Given the description of an element on the screen output the (x, y) to click on. 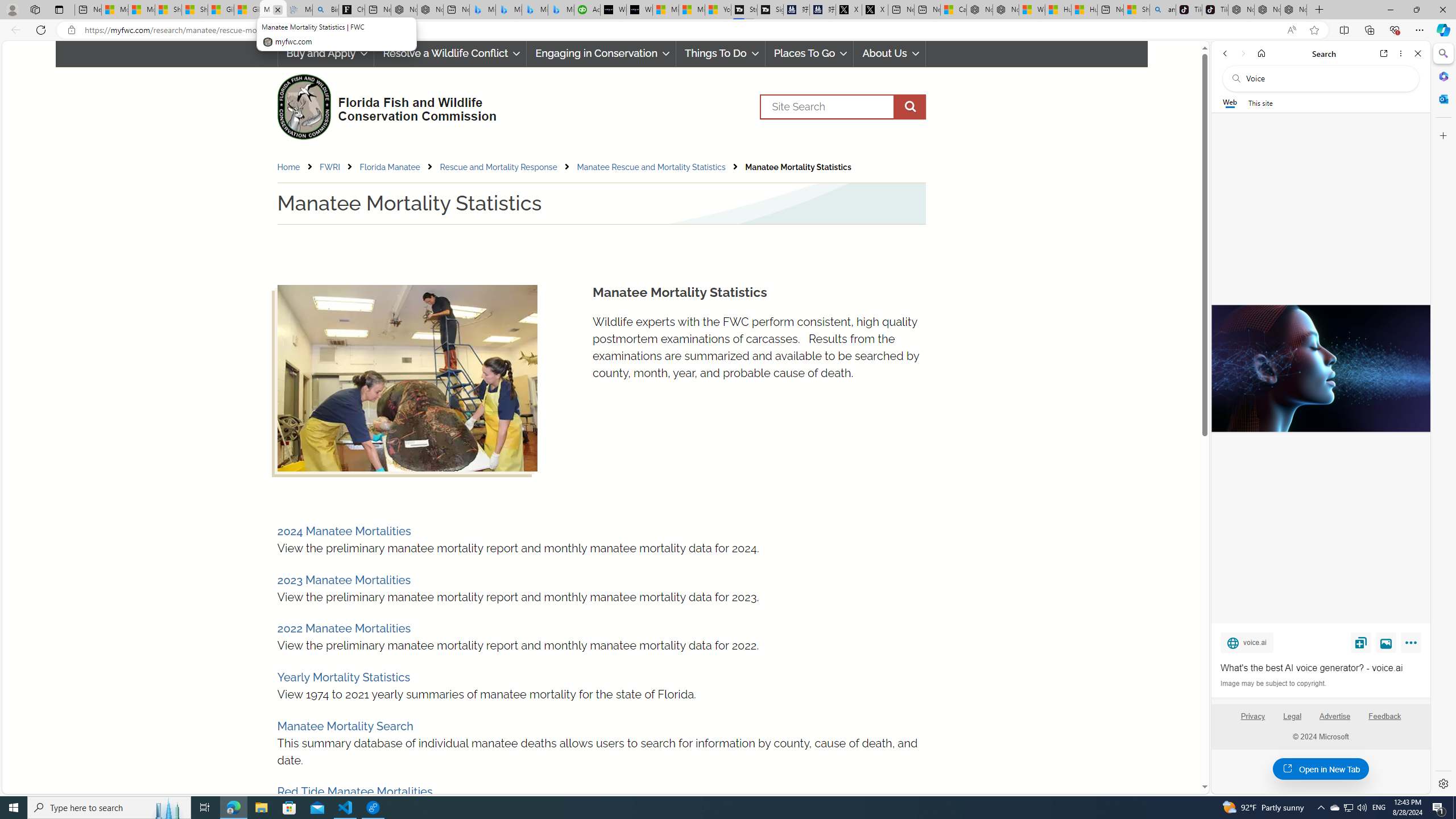
Rescue and Mortality Response (498, 166)
Tab actions menu (58, 9)
Side bar (1443, 418)
Browser essentials (1394, 29)
Engaging in Conservation (601, 53)
Engaging in Conservation (602, 53)
Microsoft Bing Travel - Stays in Bangkok, Bangkok, Thailand (508, 9)
Things To Do (720, 53)
Yearly Mortality Statistics (343, 677)
Search (842, 106)
Gilma and Hector both pose tropical trouble for Hawaii (246, 9)
Customize (1442, 135)
Places To Go (808, 53)
